Given the description of an element on the screen output the (x, y) to click on. 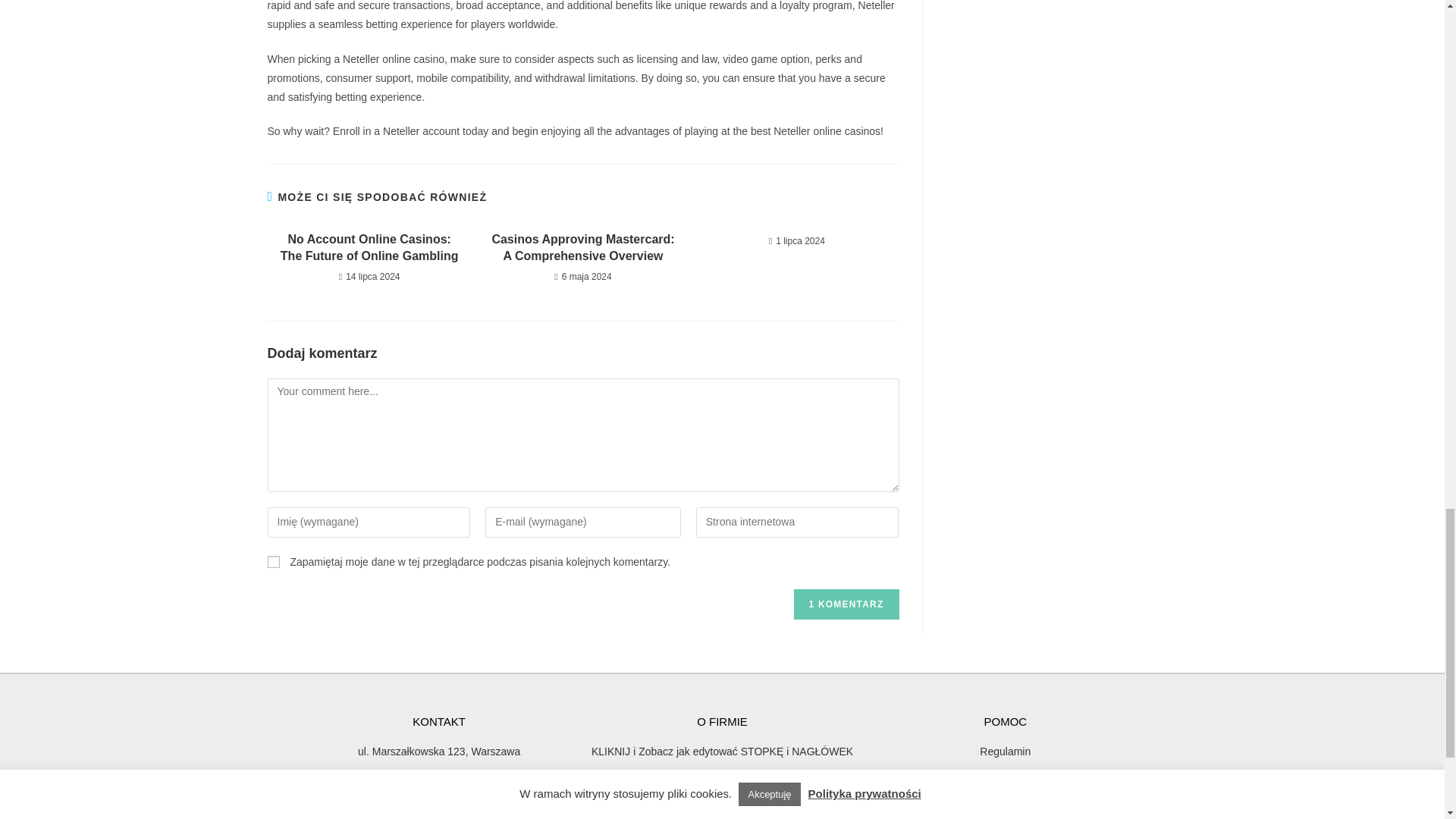
No Account Online Casinos: The Future of Online Gambling (368, 247)
Kontakt (1005, 804)
yes (272, 562)
Regulamin (1005, 751)
1 Komentarz (846, 603)
1 Komentarz (846, 603)
Casinos Approving Mastercard: A Comprehensive Overview (582, 247)
